Given the description of an element on the screen output the (x, y) to click on. 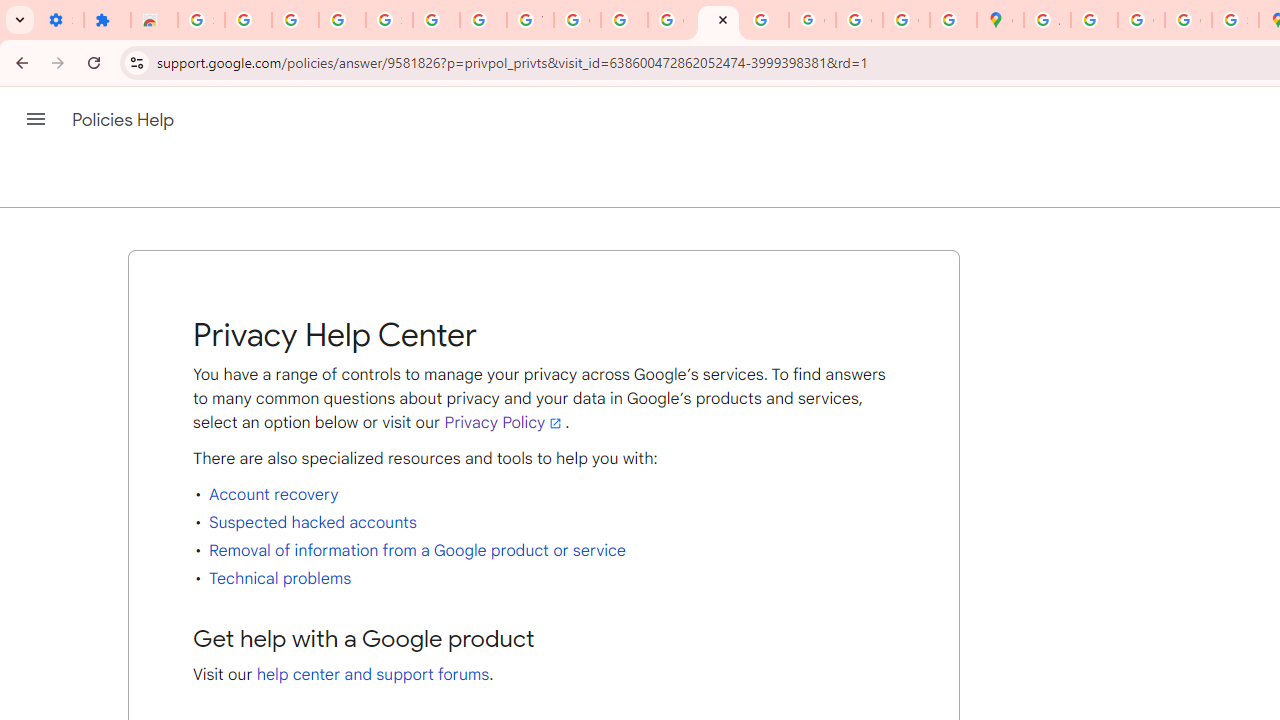
Create your Google Account (1140, 20)
Policies Help (124, 119)
Privacy Help Center - Policies Help (718, 20)
Safety in Our Products - Google Safety Center (1235, 20)
Suspected hacked accounts (312, 522)
Settings - On startup (60, 20)
https://scholar.google.com/ (623, 20)
